Given the description of an element on the screen output the (x, y) to click on. 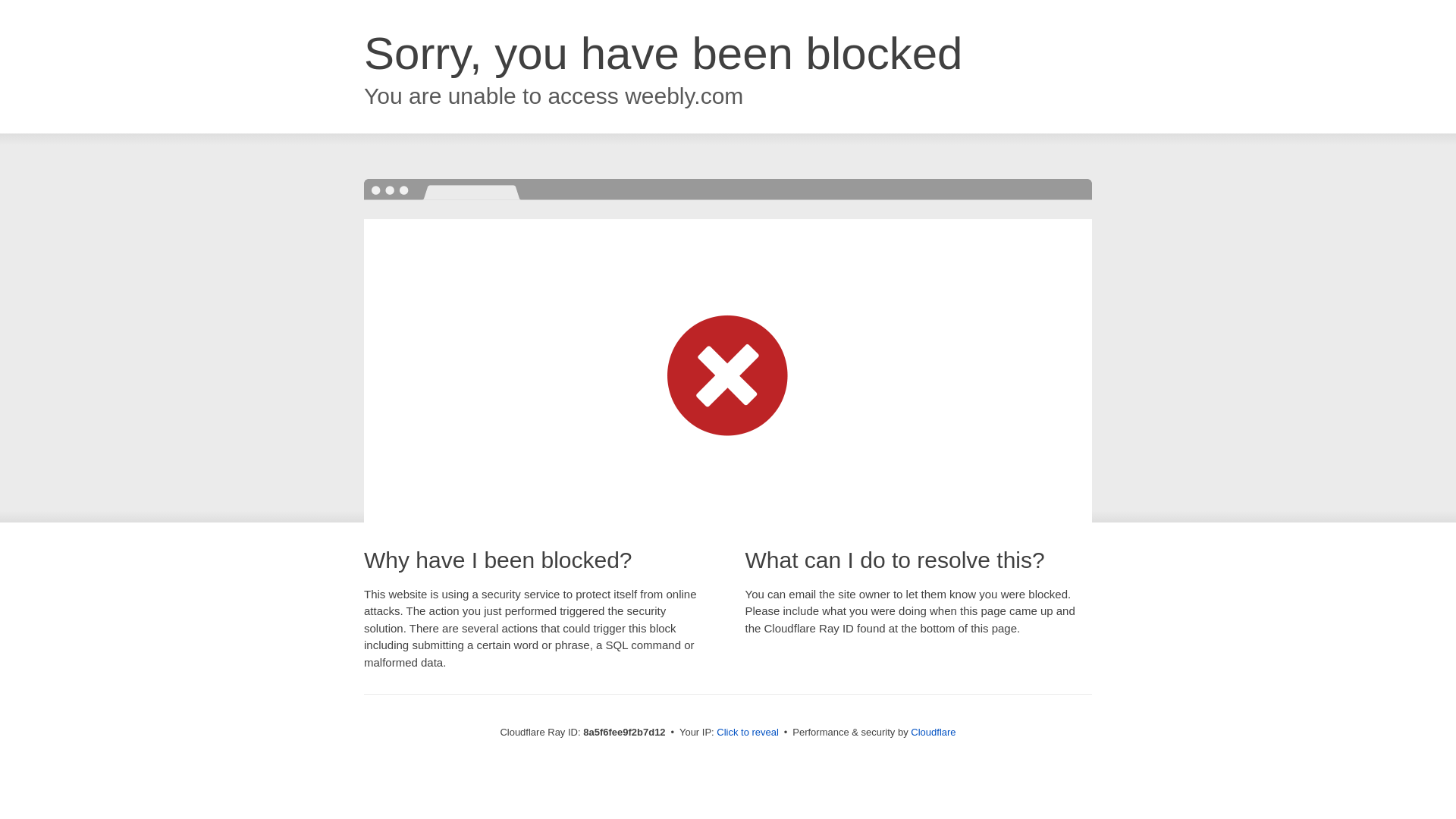
Click to reveal (747, 732)
Cloudflare (933, 731)
